Given the description of an element on the screen output the (x, y) to click on. 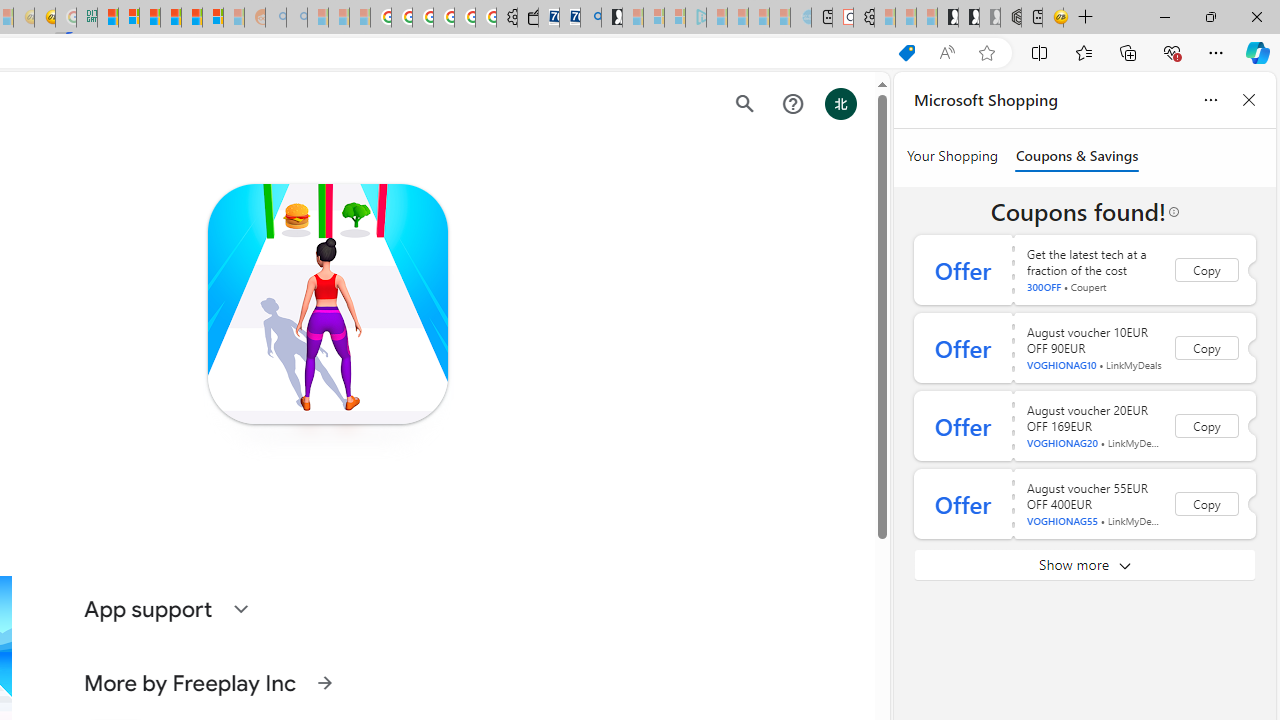
Wallet (527, 17)
Browser essentials (1171, 52)
Nordace - Nordace Siena Is Not An Ordinary Backpack (1011, 17)
Add this page to favorites (Ctrl+D) (986, 53)
Microsoft Start - Sleeping (758, 17)
Favorites (1083, 52)
This site has coupons! Shopping in Microsoft Edge (906, 53)
